Given the description of an element on the screen output the (x, y) to click on. 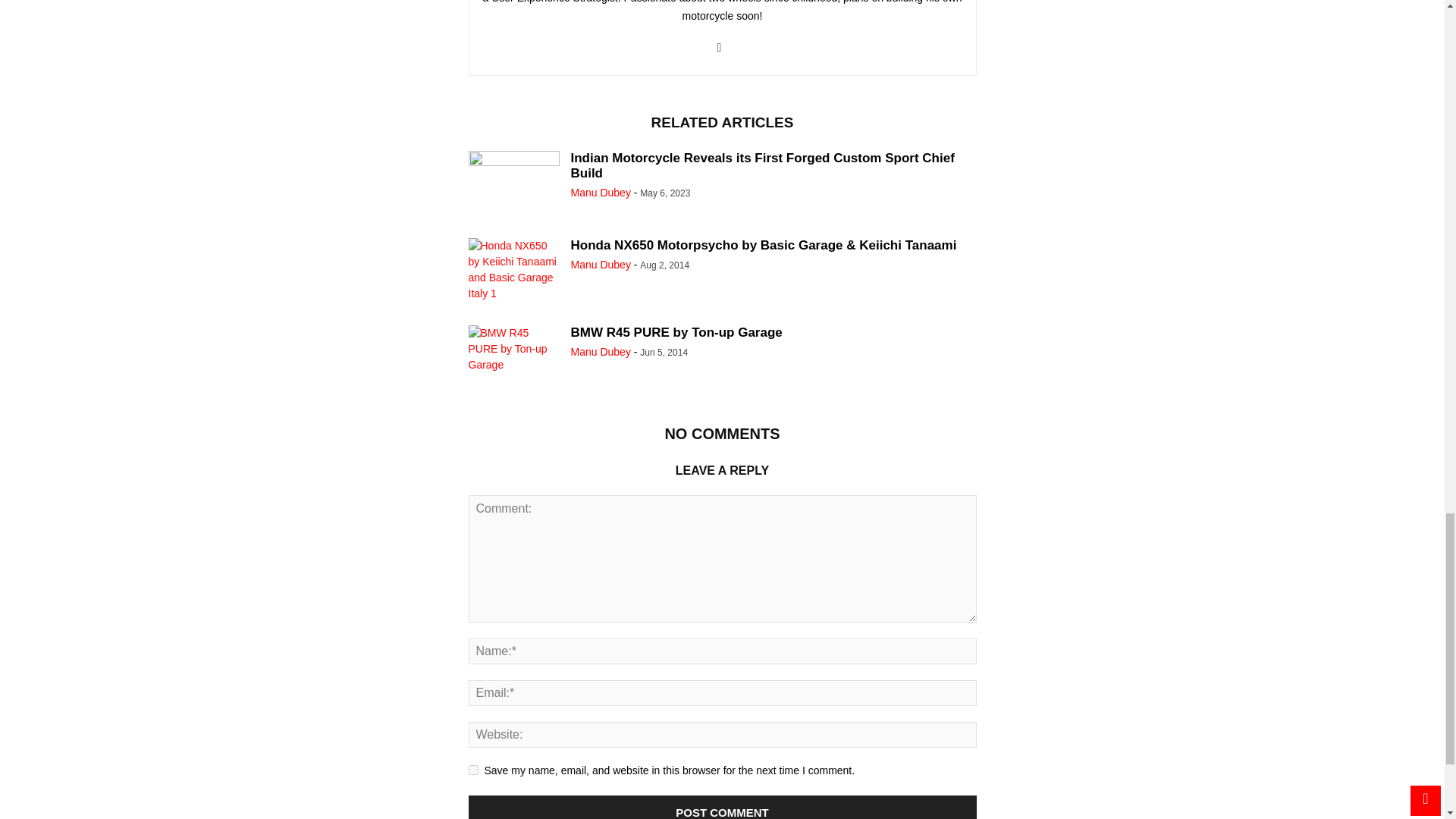
Manu Dubey (600, 264)
Manu Dubey (600, 351)
Post Comment (722, 807)
yes (473, 769)
Post Comment (722, 807)
Manu Dubey (600, 192)
Facebook (718, 47)
BMW R45 PURE by Ton-up Garage (513, 359)
